Given the description of an element on the screen output the (x, y) to click on. 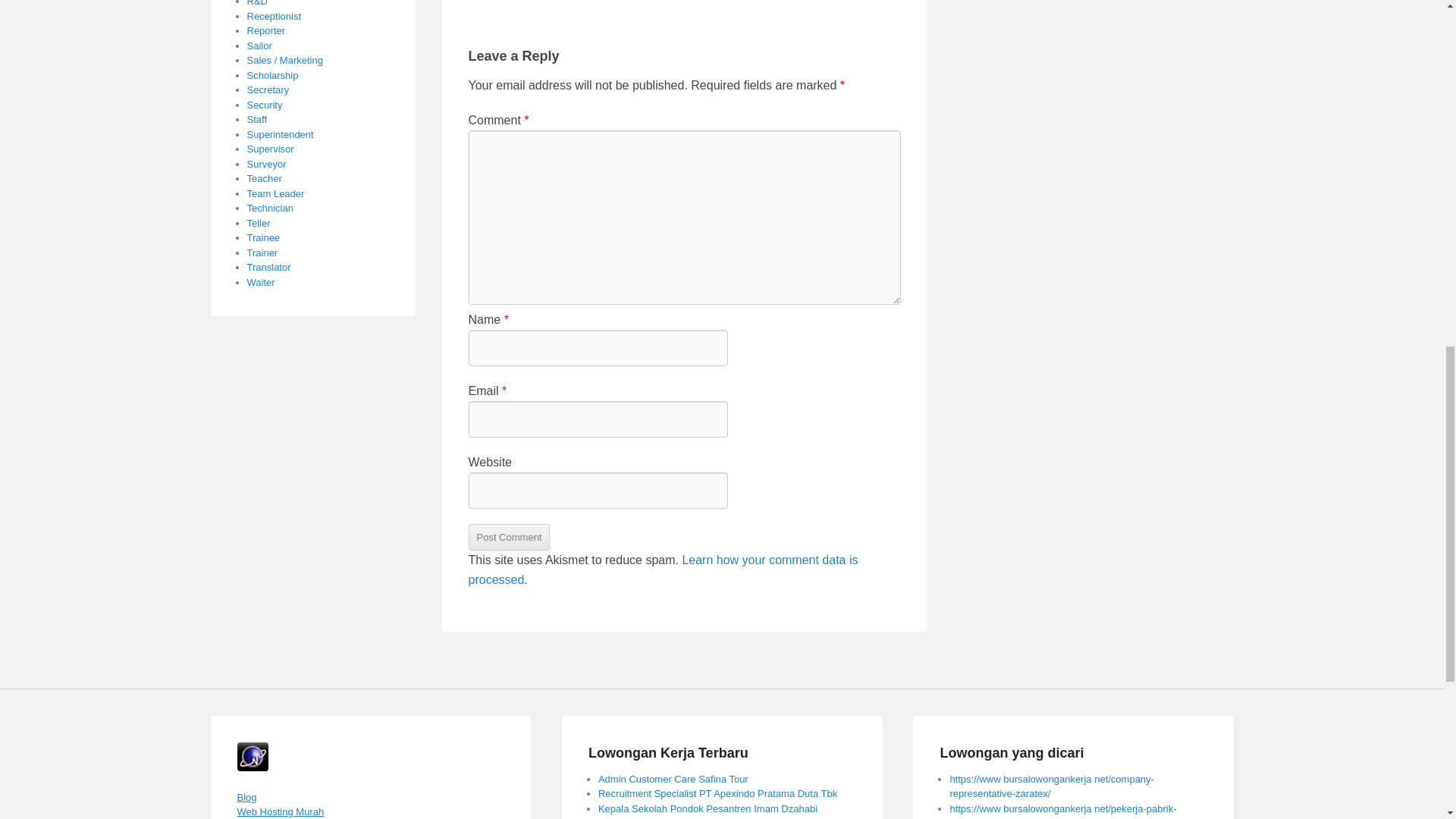
eXTReMe Tracker - Free Website Statistics (251, 767)
Learn how your comment data is processed (663, 569)
Post Comment (509, 537)
Post Comment (509, 537)
